Given the description of an element on the screen output the (x, y) to click on. 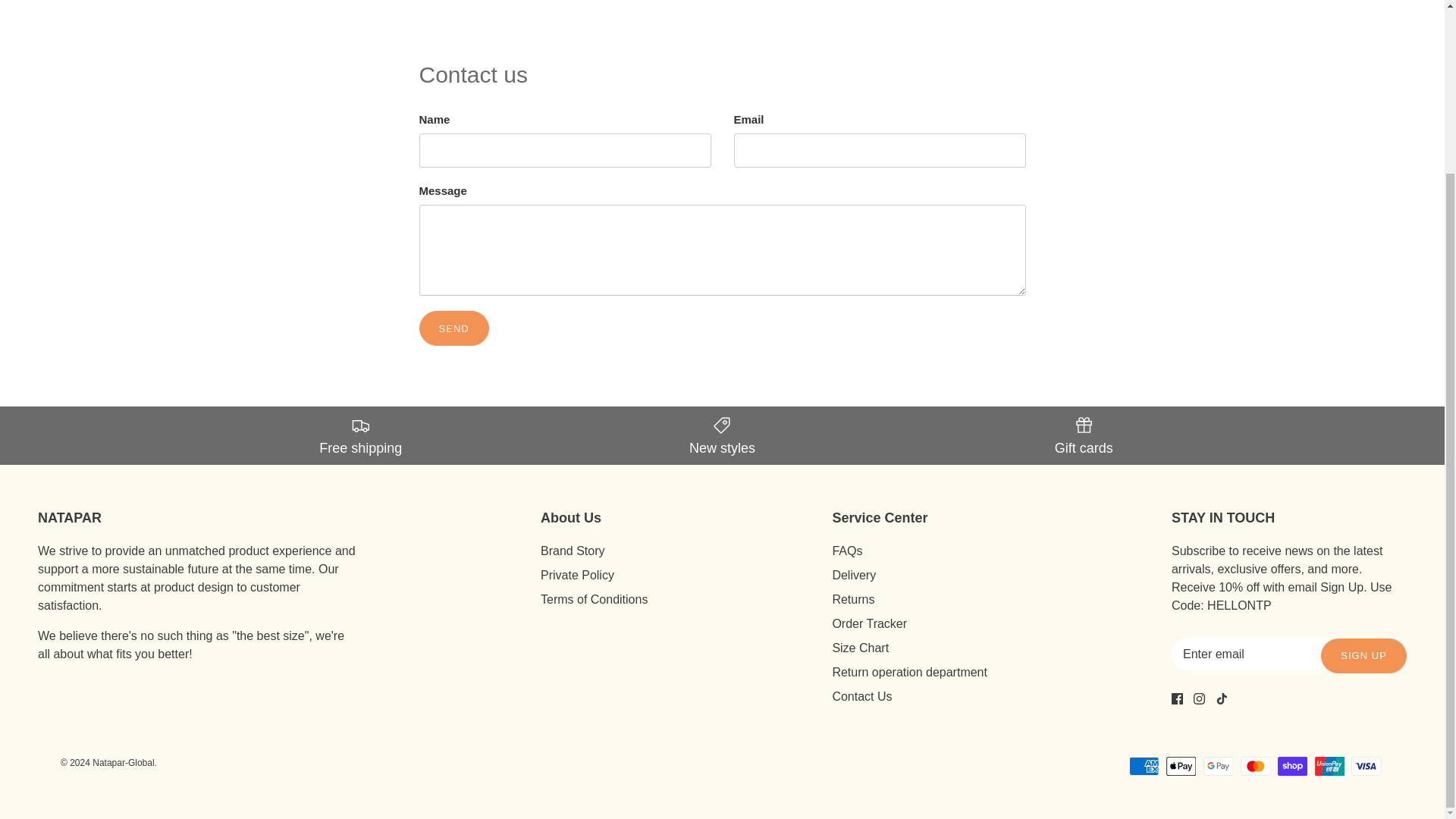
Send (453, 328)
Apple Pay (1181, 765)
Facebook (1177, 698)
Visa (1366, 765)
Mastercard (1255, 765)
American Express (1143, 765)
Union Pay (1329, 765)
Shop Pay (1292, 765)
Google Pay (1218, 765)
Instagram (1199, 698)
